Given the description of an element on the screen output the (x, y) to click on. 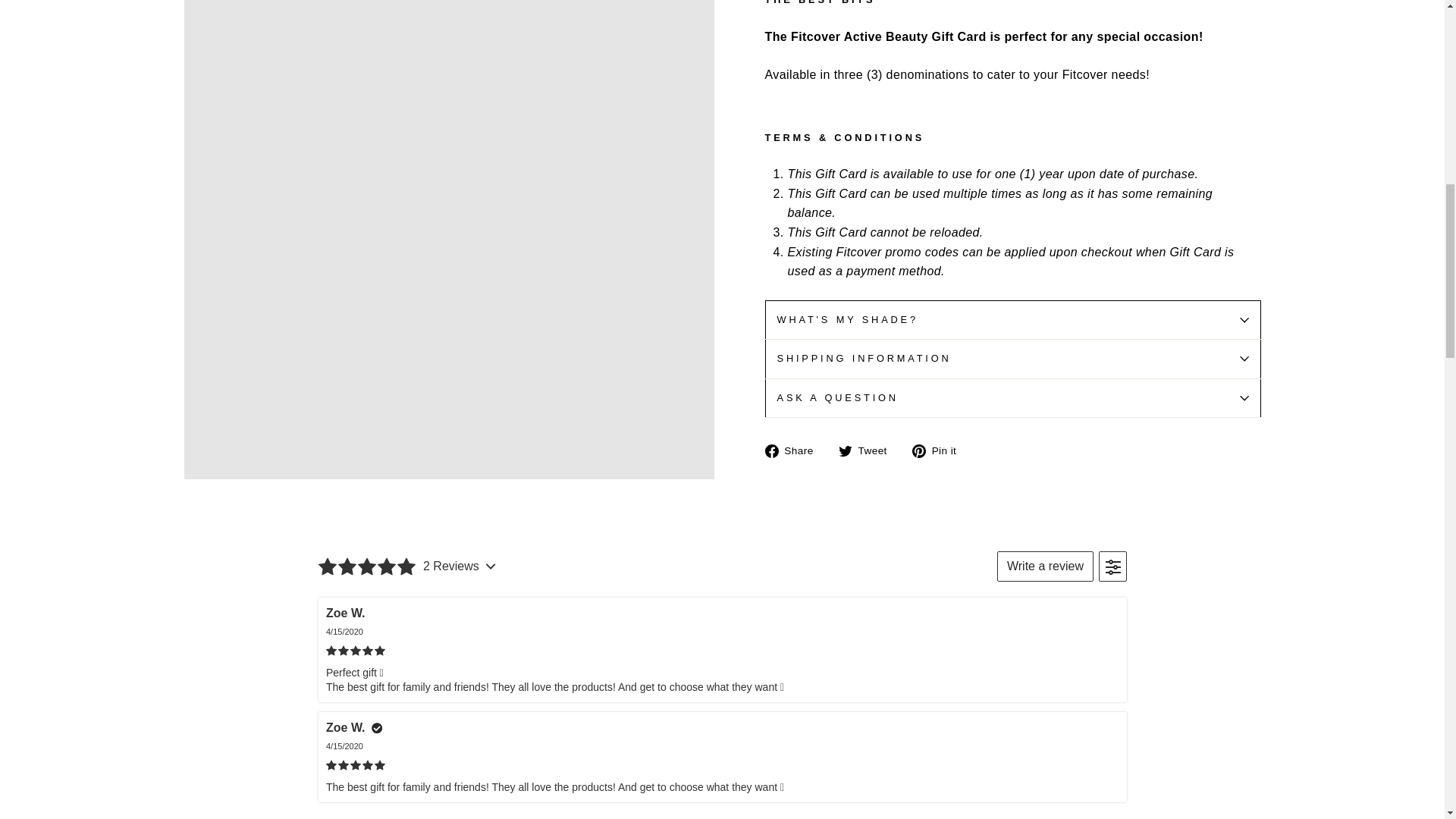
Share on Facebook (794, 450)
Tweet on Twitter (868, 450)
Pin on Pinterest (940, 450)
